Given the description of an element on the screen output the (x, y) to click on. 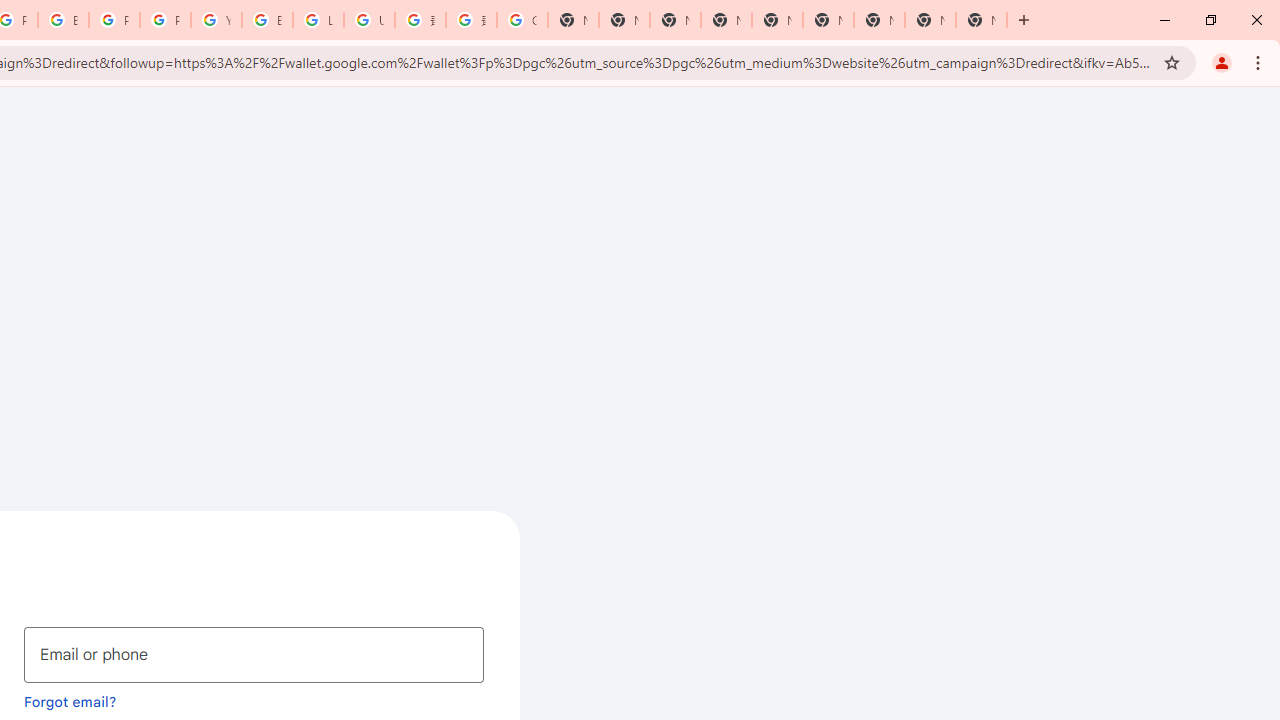
Browse Chrome as a guest - Computer - Google Chrome Help (267, 20)
Email or phone (253, 654)
